Given the description of an element on the screen output the (x, y) to click on. 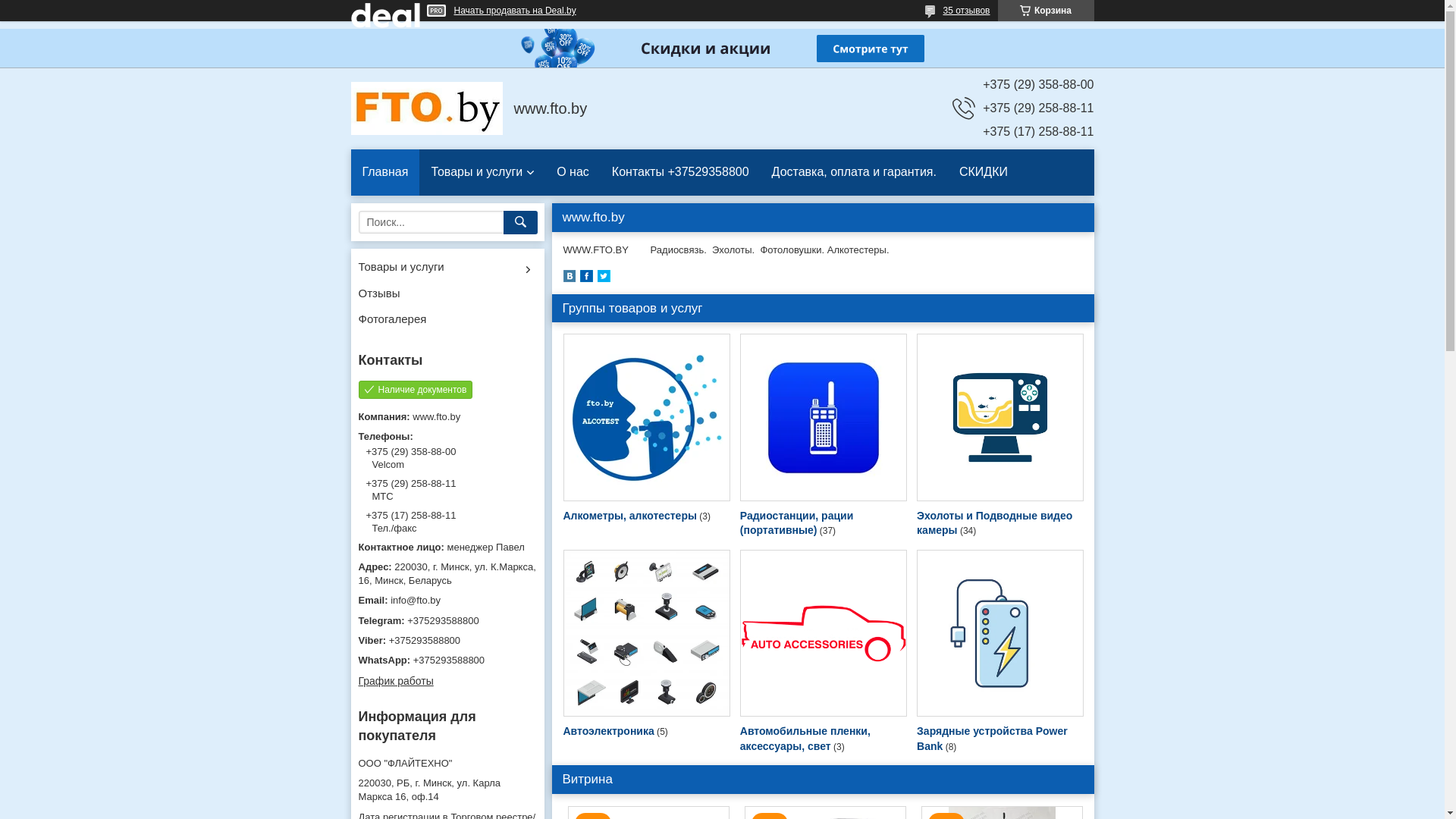
info@fto.by Element type: text (446, 600)
twitter Element type: hover (603, 278)
www.fto.by Element type: hover (426, 107)
facebook Element type: hover (585, 278)
